Given the description of an element on the screen output the (x, y) to click on. 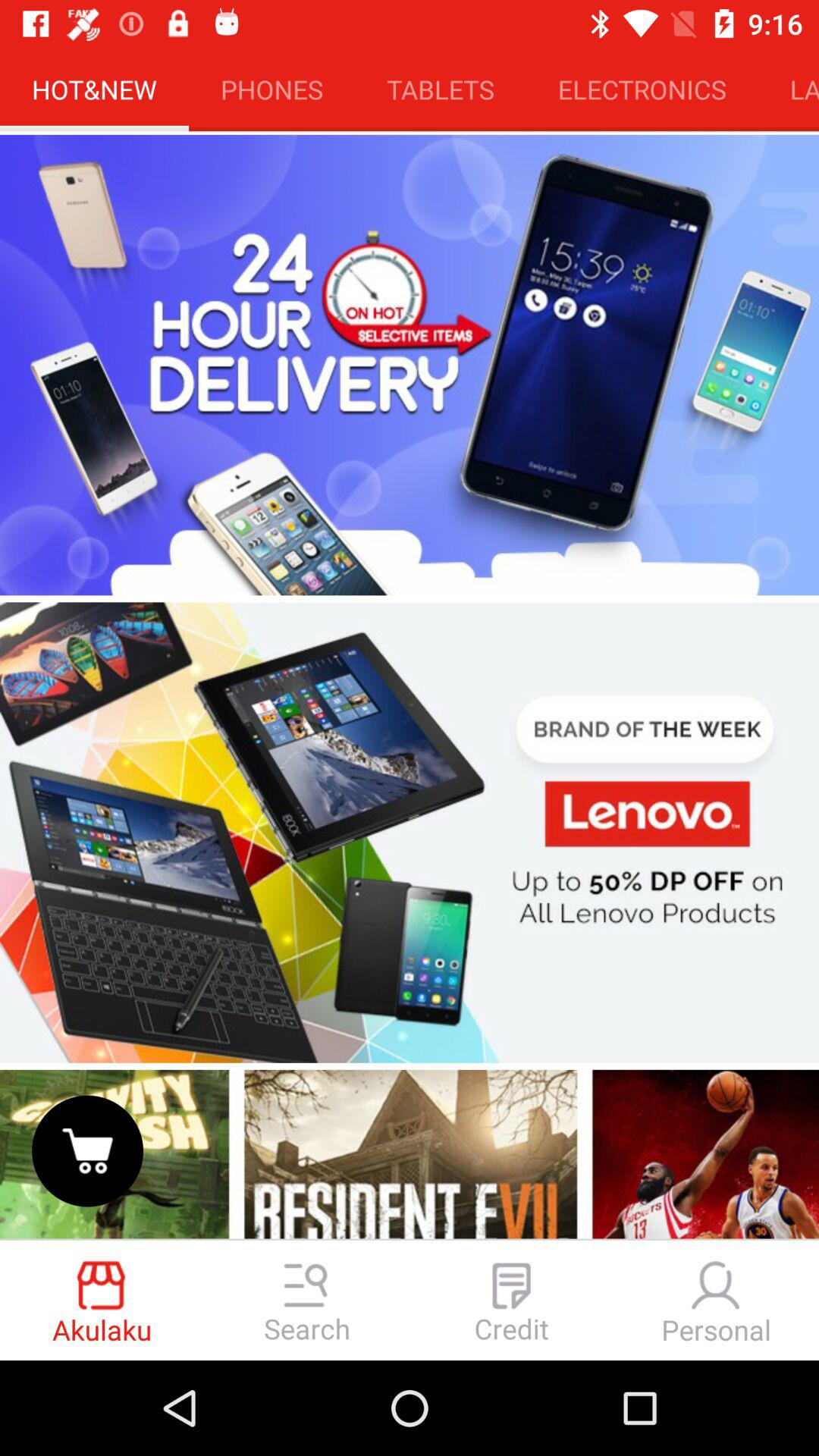
see advertisement (409, 832)
